Given the description of an element on the screen output the (x, y) to click on. 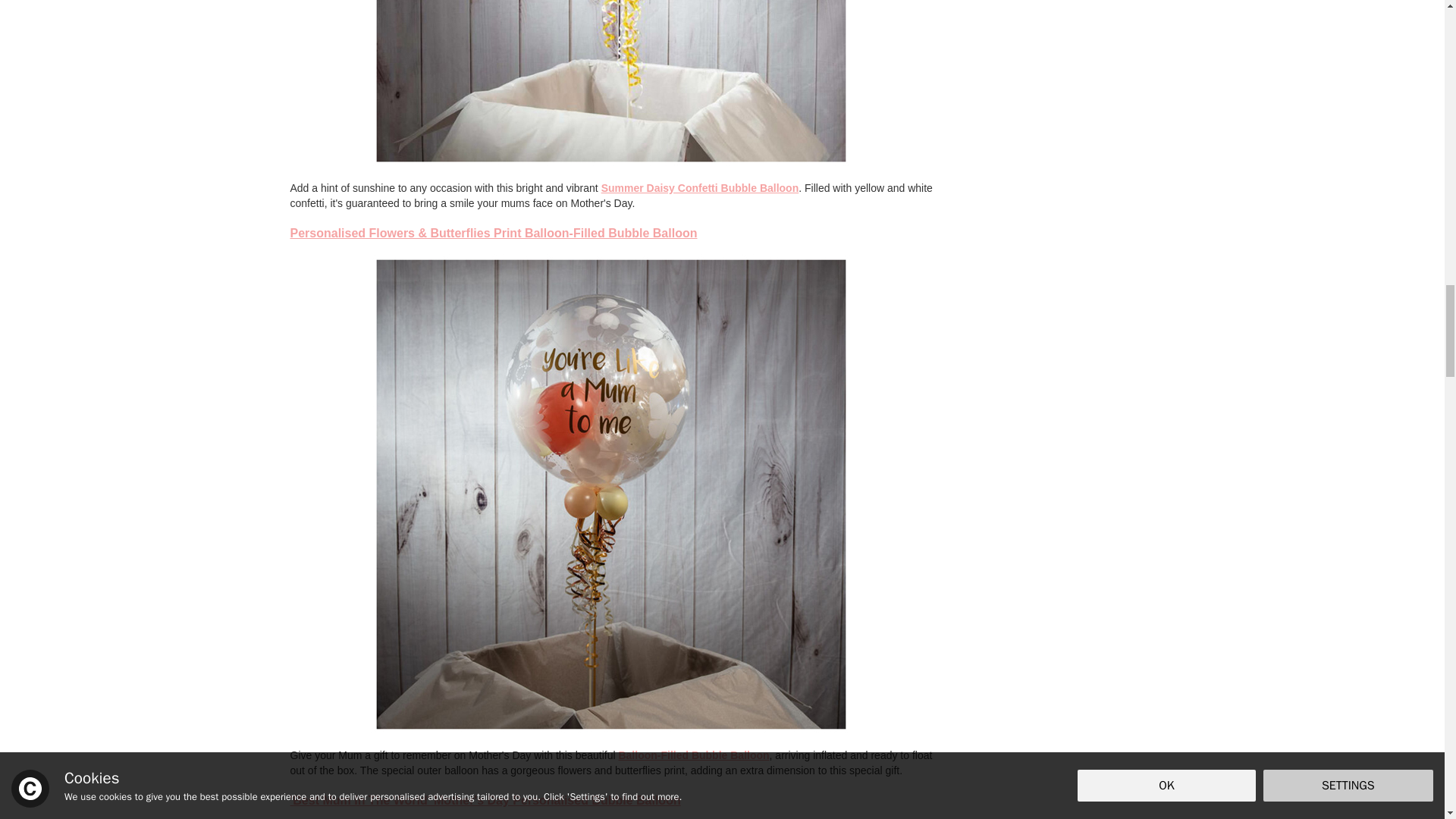
Summer Daisy Confetti Bubble Balloon (700, 187)
Balloon-Filled Bubble Balloon (692, 755)
